Given the description of an element on the screen output the (x, y) to click on. 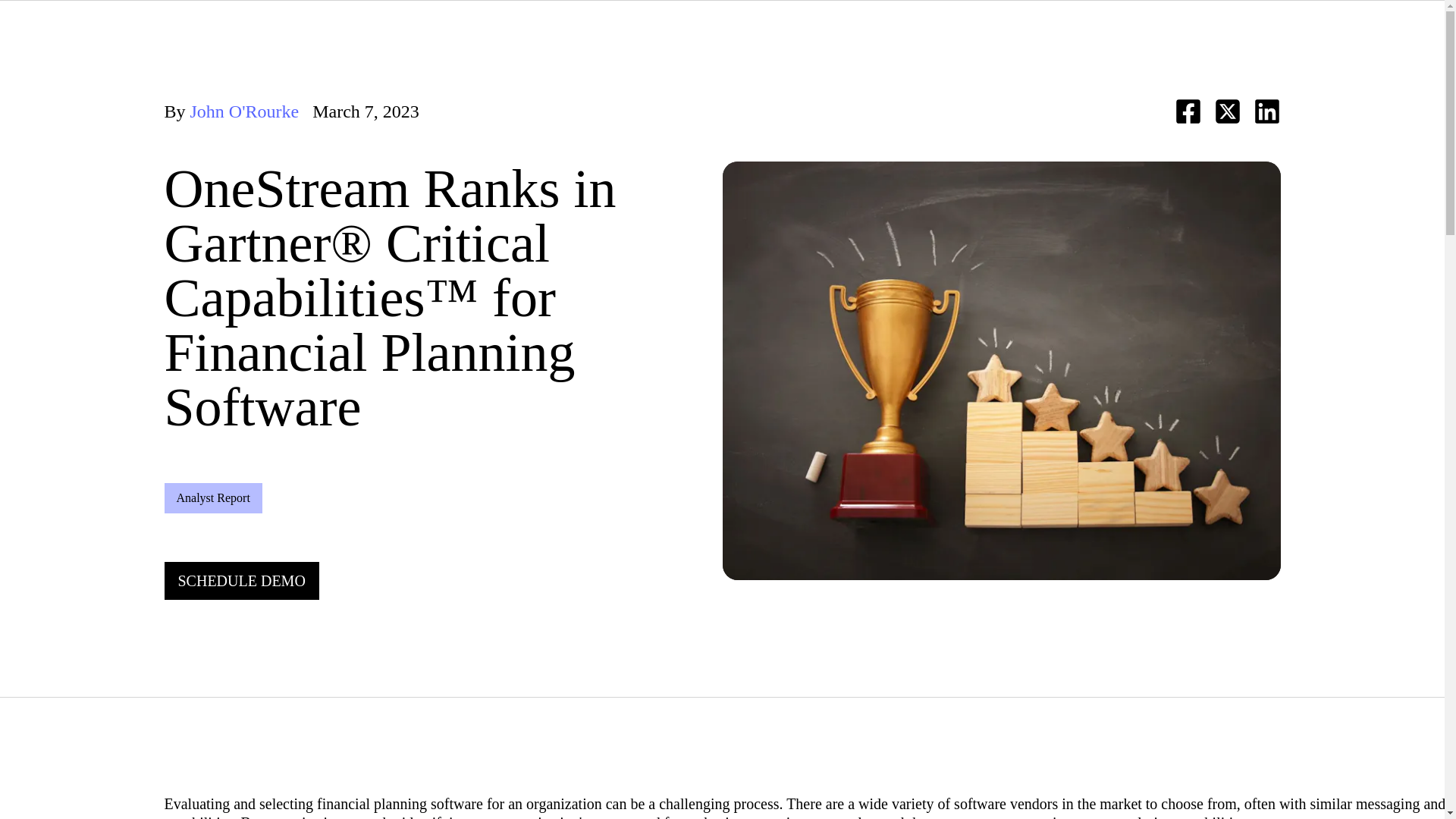
Analyst Report (212, 498)
SCHEDULE DEMO (240, 580)
John O'Rourke (244, 111)
